Given the description of an element on the screen output the (x, y) to click on. 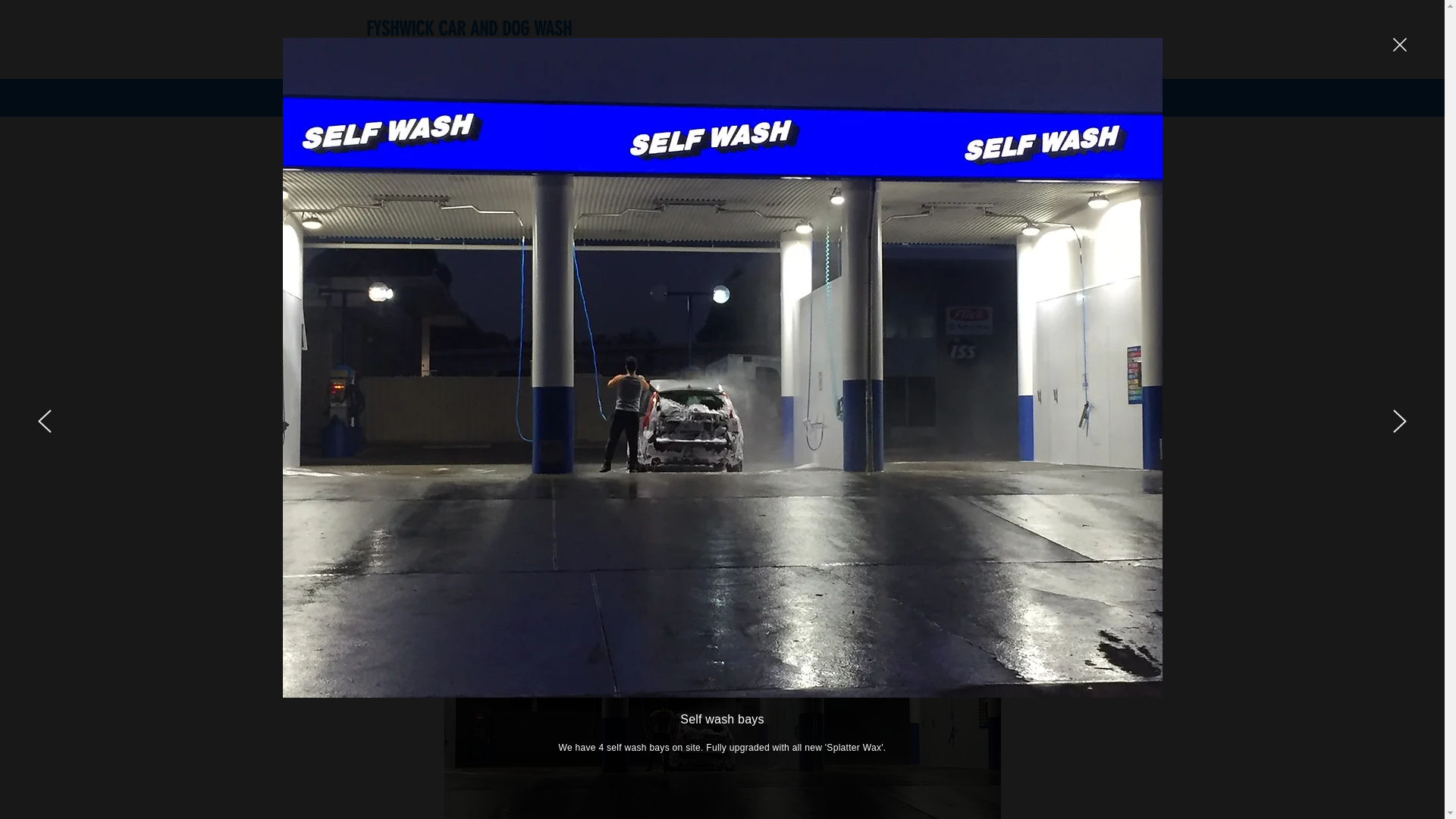
About Element type: text (432, 97)
Services Element type: text (491, 97)
Testimonial Element type: text (658, 97)
Home Element type: text (380, 97)
Contact Element type: text (729, 97)
Wash Options Element type: text (571, 97)
